Given the description of an element on the screen output the (x, y) to click on. 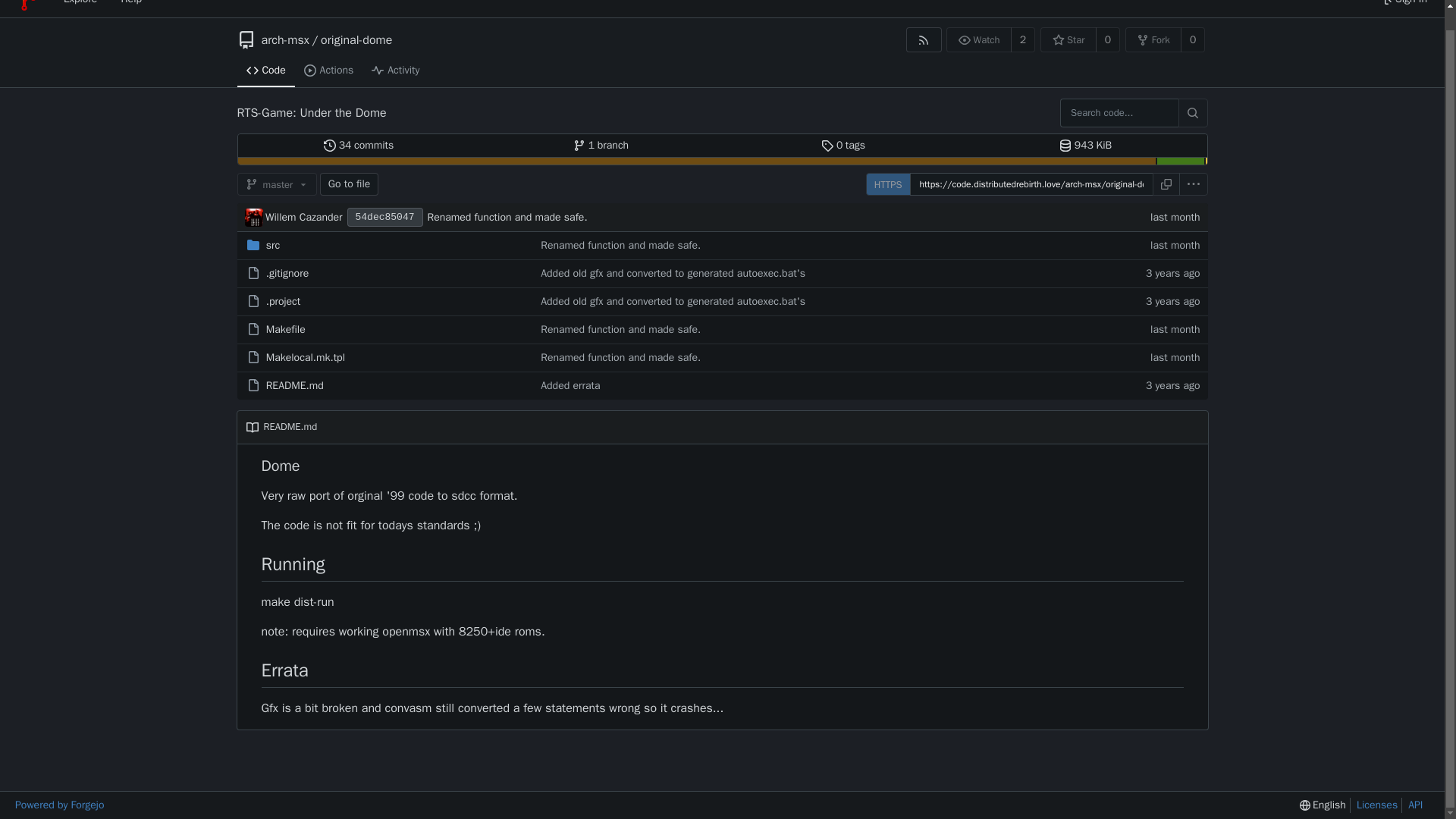
Go to file (349, 183)
Fork (1153, 39)
.project (283, 301)
Makefile (285, 329)
master (276, 183)
Activity (395, 70)
arch-msx (284, 39)
0 (1192, 39)
README.md (294, 385)
2 (1022, 39)
